Given the description of an element on the screen output the (x, y) to click on. 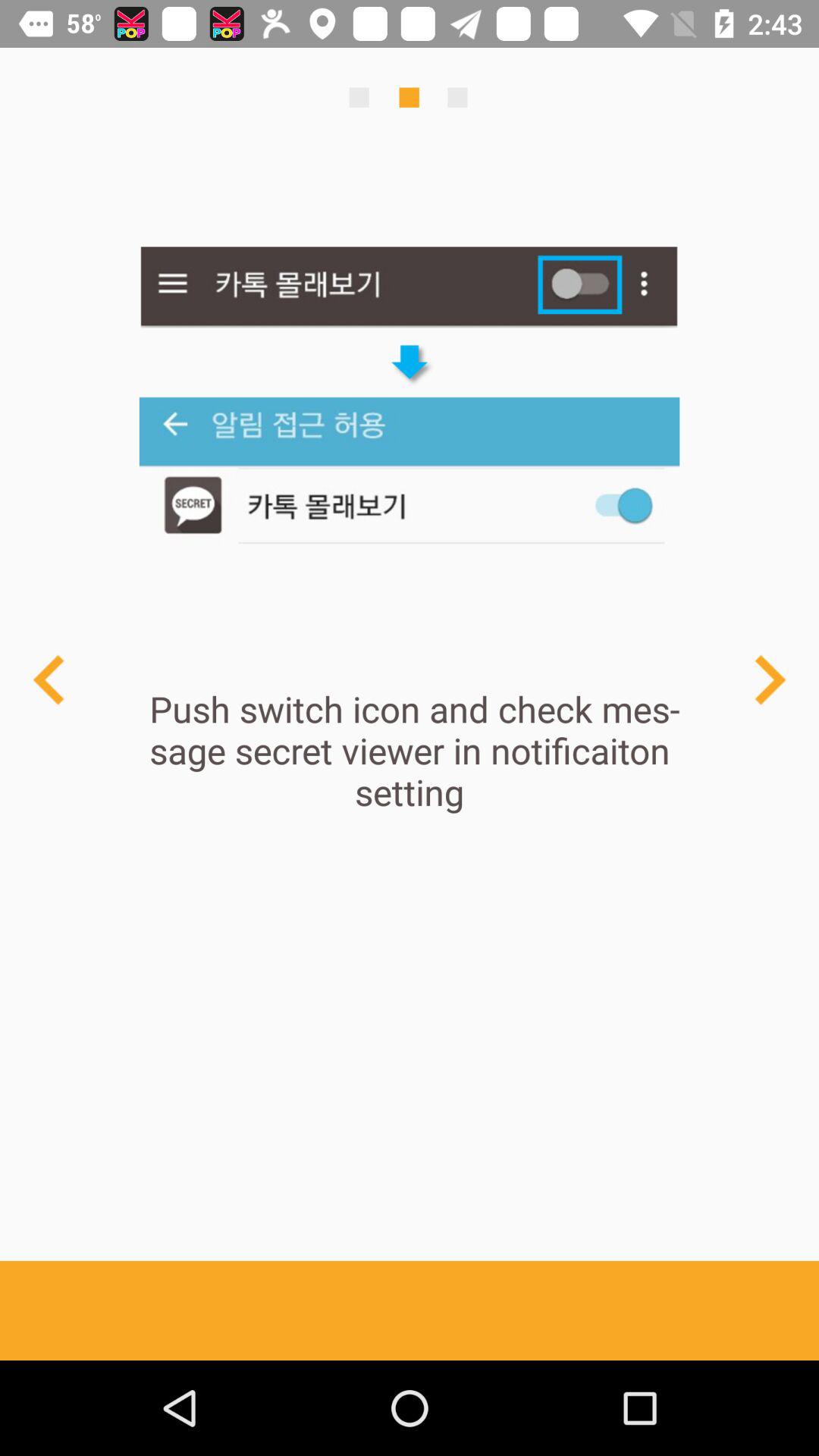
next page (769, 679)
